Given the description of an element on the screen output the (x, y) to click on. 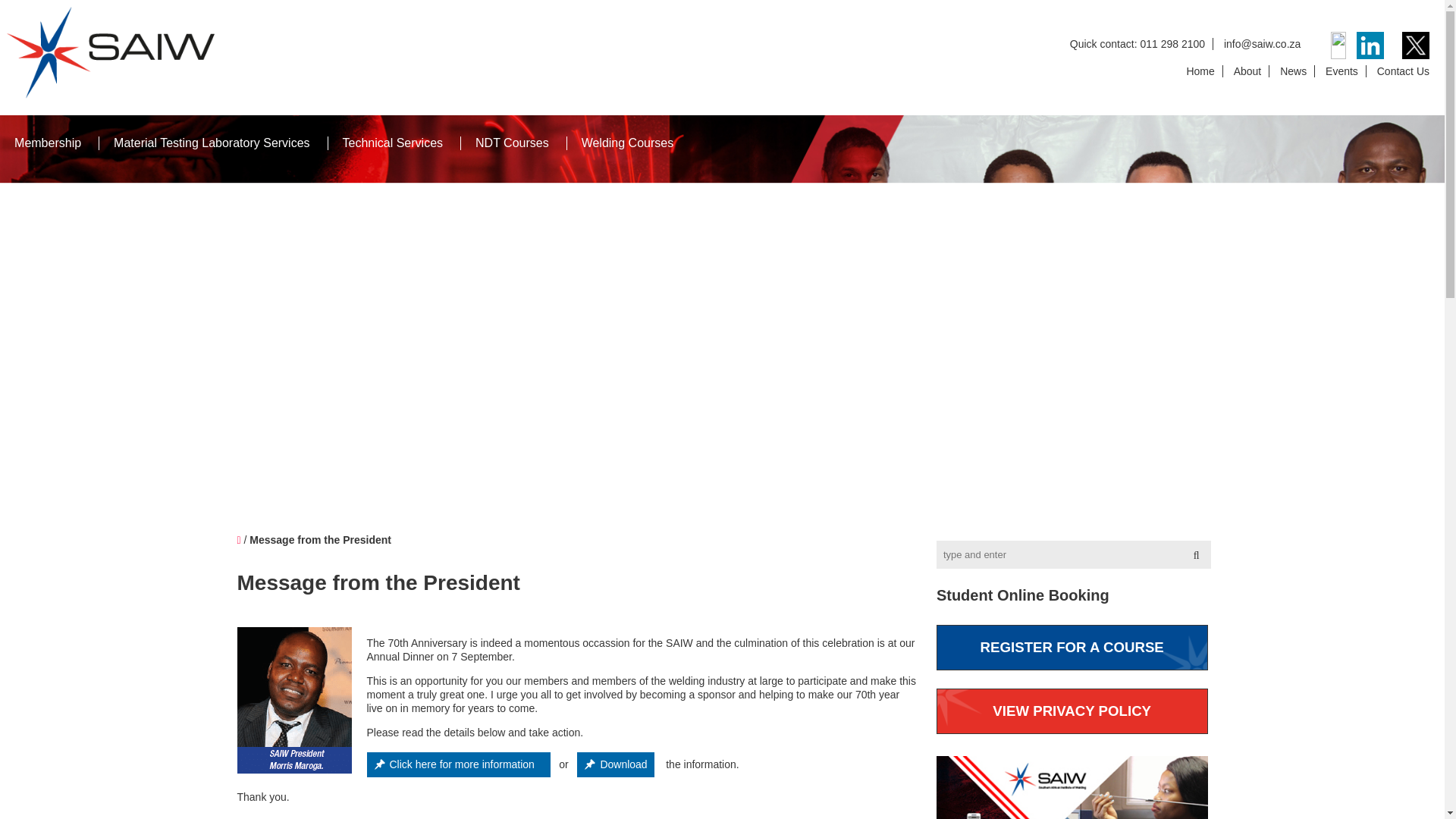
Contact Us (1403, 70)
National Register (1382, 489)
Examinations (1165, 489)
Welding Courses (627, 142)
Test Event 3 (319, 539)
Membership (47, 142)
Certifications (1269, 489)
Material Testing Laboratory Services (211, 142)
Events (1342, 70)
News (1293, 70)
